Given the description of an element on the screen output the (x, y) to click on. 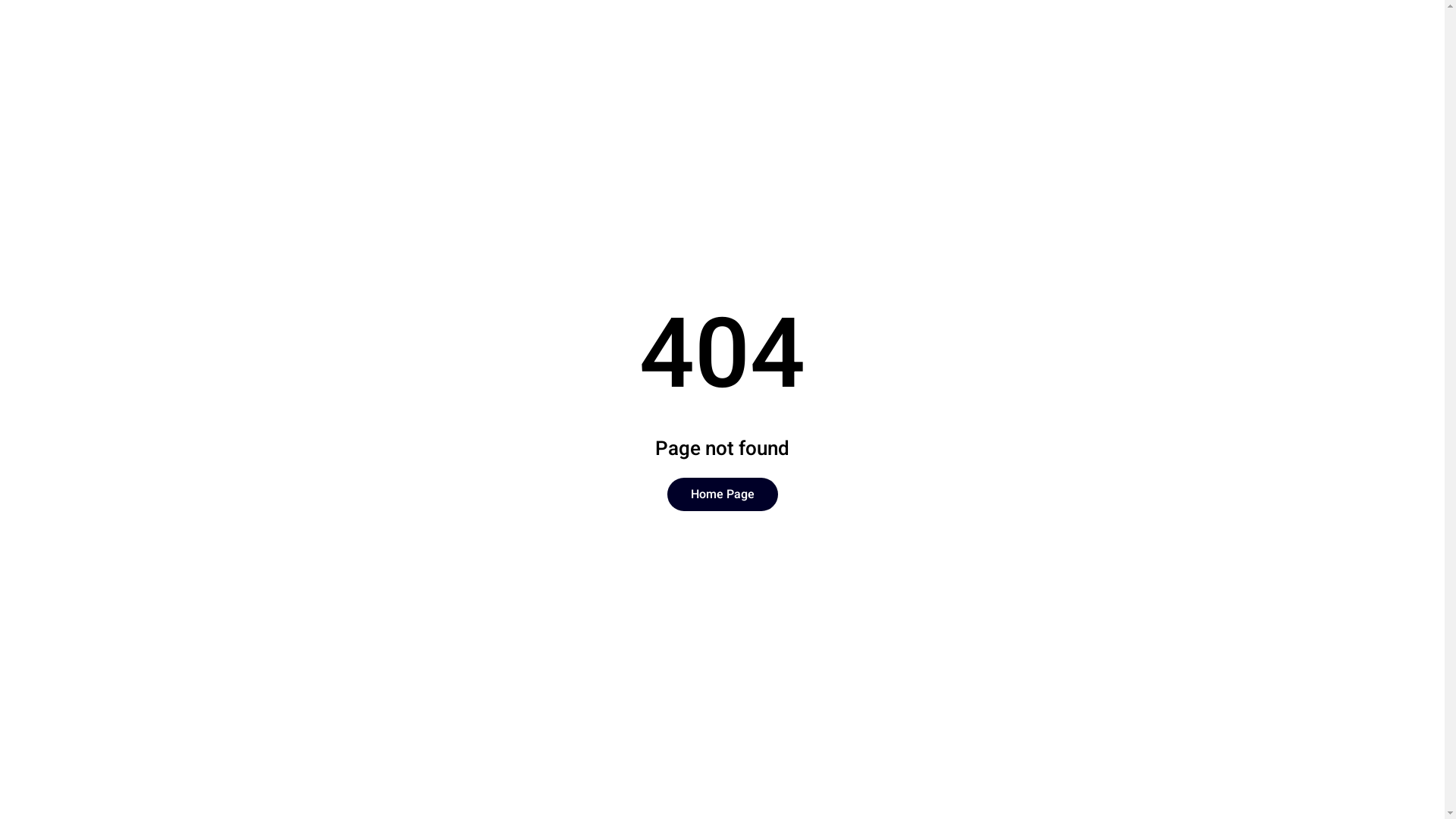
Home Page Element type: text (722, 494)
